Given the description of an element on the screen output the (x, y) to click on. 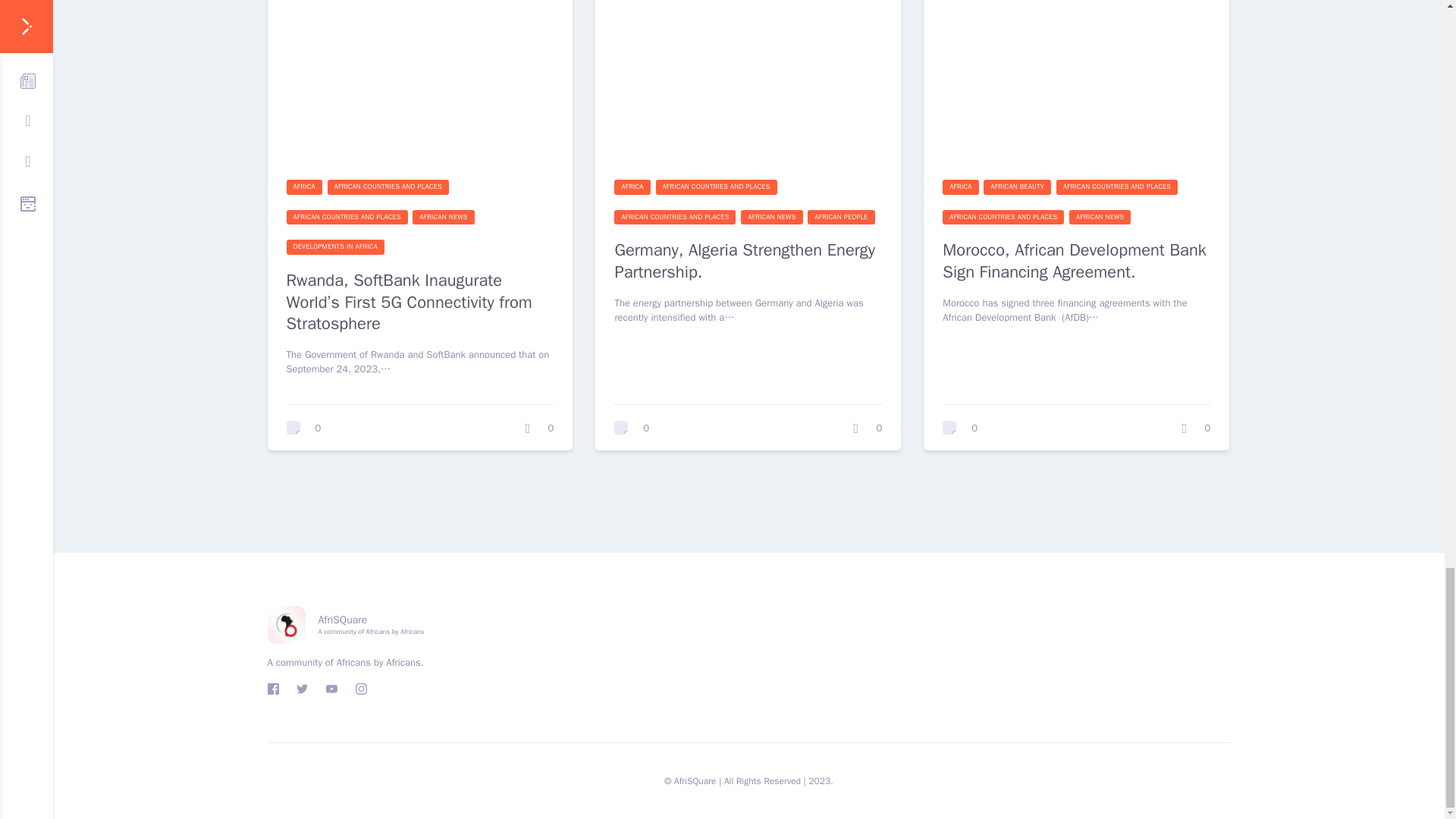
All posts from African Countries and Places (716, 186)
All posts from Africa (960, 186)
All posts from African News (443, 217)
All posts from African People (841, 217)
All posts from African News (771, 217)
All posts from Africa (303, 186)
All posts from Developments in Africa (335, 246)
All posts from African Countries and Places (346, 217)
All posts from African Countries and Places (674, 217)
All posts from African Countries and Places (387, 186)
